Given the description of an element on the screen output the (x, y) to click on. 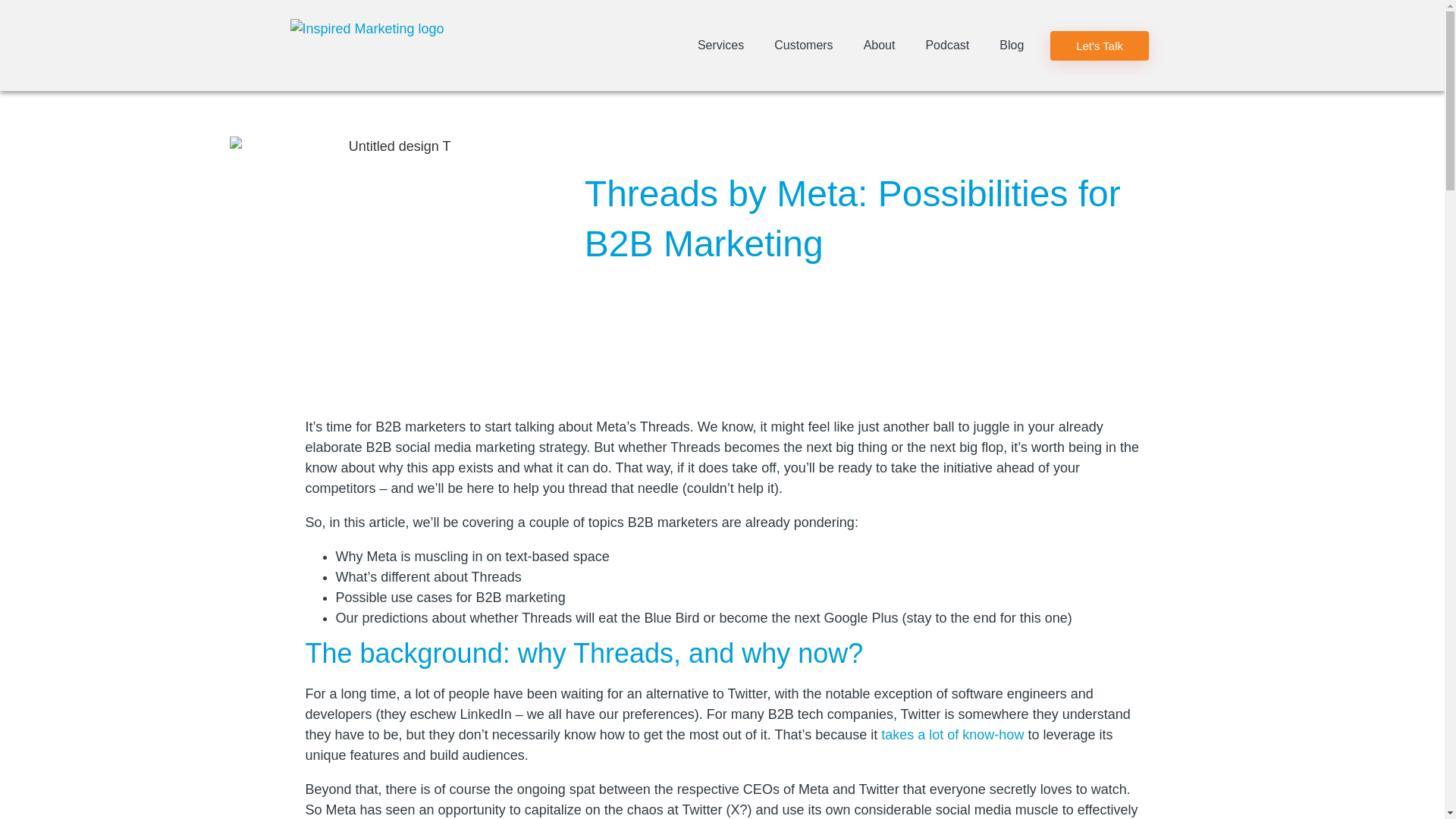
Blog (1011, 44)
Podcast (946, 44)
Services (721, 44)
takes a lot of know-how (951, 734)
About (879, 44)
Let's Talk (1098, 44)
Customers (802, 44)
